Given the description of an element on the screen output the (x, y) to click on. 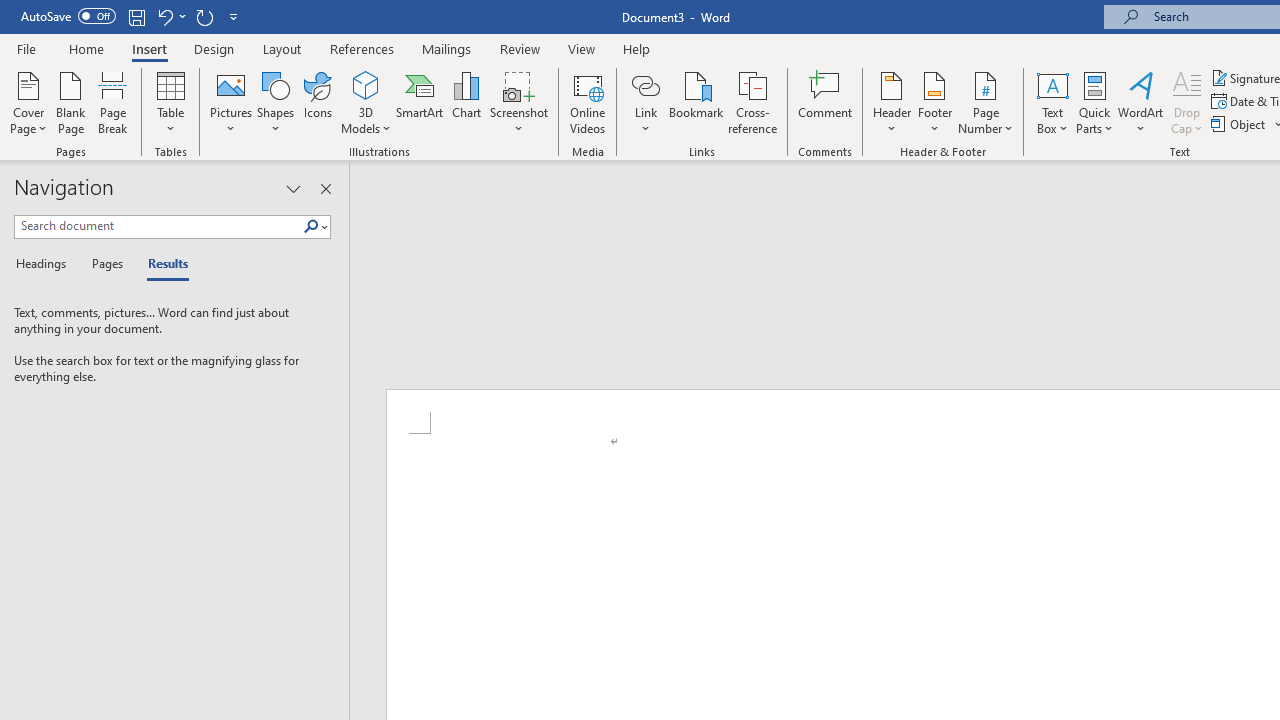
Results (161, 264)
AutoSave (68, 16)
System (10, 11)
Customize Quick Access Toolbar (234, 15)
Undo New Page (170, 15)
Icons (317, 102)
Search document (157, 226)
Blank Page (70, 102)
Quick Parts (1094, 102)
Headings (45, 264)
